Given the description of an element on the screen output the (x, y) to click on. 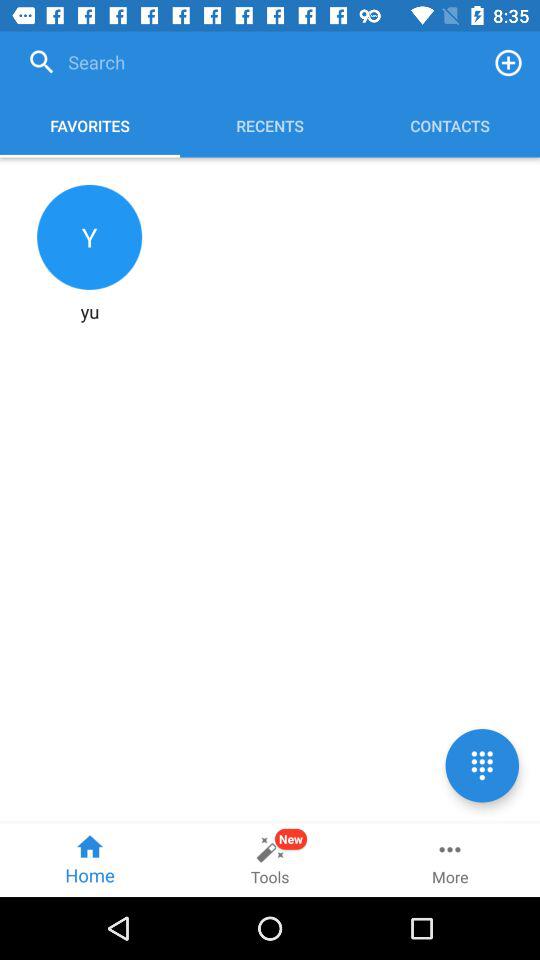
launch the icon above favorites (248, 62)
